Given the description of an element on the screen output the (x, y) to click on. 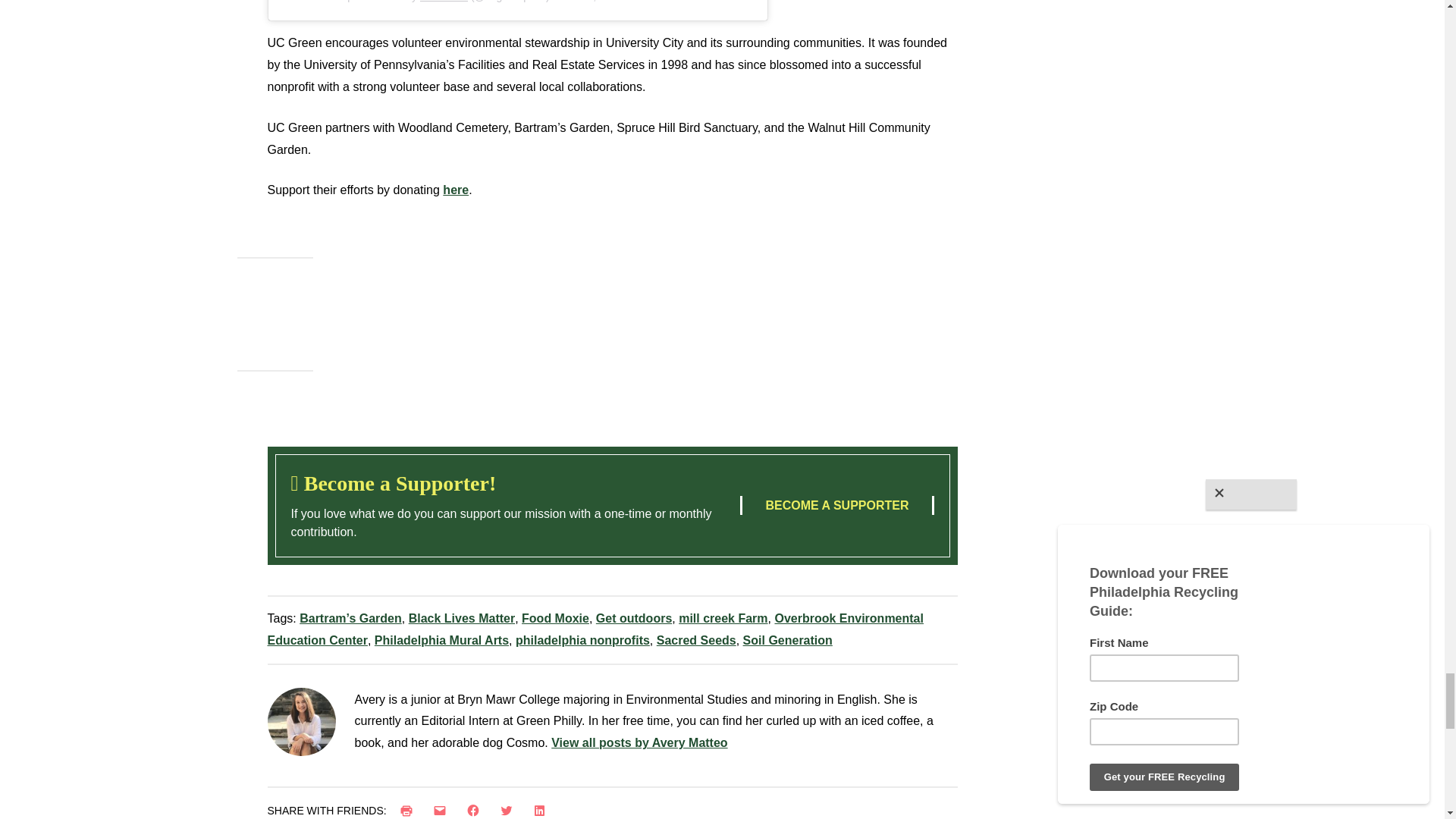
Click to email a link to a friend (443, 809)
Click to print (409, 809)
